Given the description of an element on the screen output the (x, y) to click on. 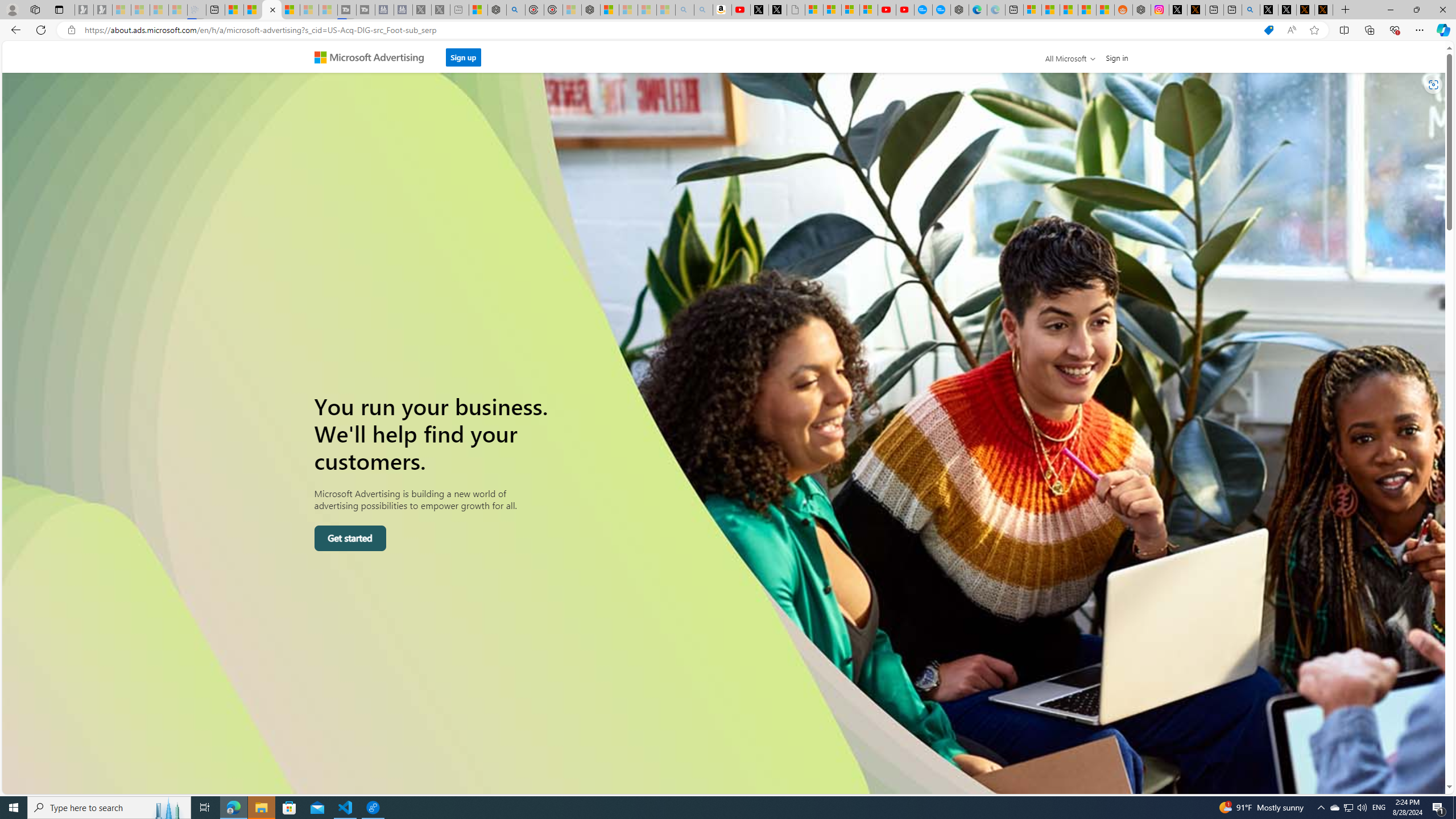
Microsoft Start - Sleeping (309, 9)
help.x.com | 524: A timeout occurred (1195, 9)
Profile / X (1268, 9)
Log in to X / X (1178, 9)
GitHub (@github) / X (1287, 9)
Amazon Echo Dot PNG - Search Images - Sleeping (702, 9)
X - Sleeping (440, 9)
